Given the description of an element on the screen output the (x, y) to click on. 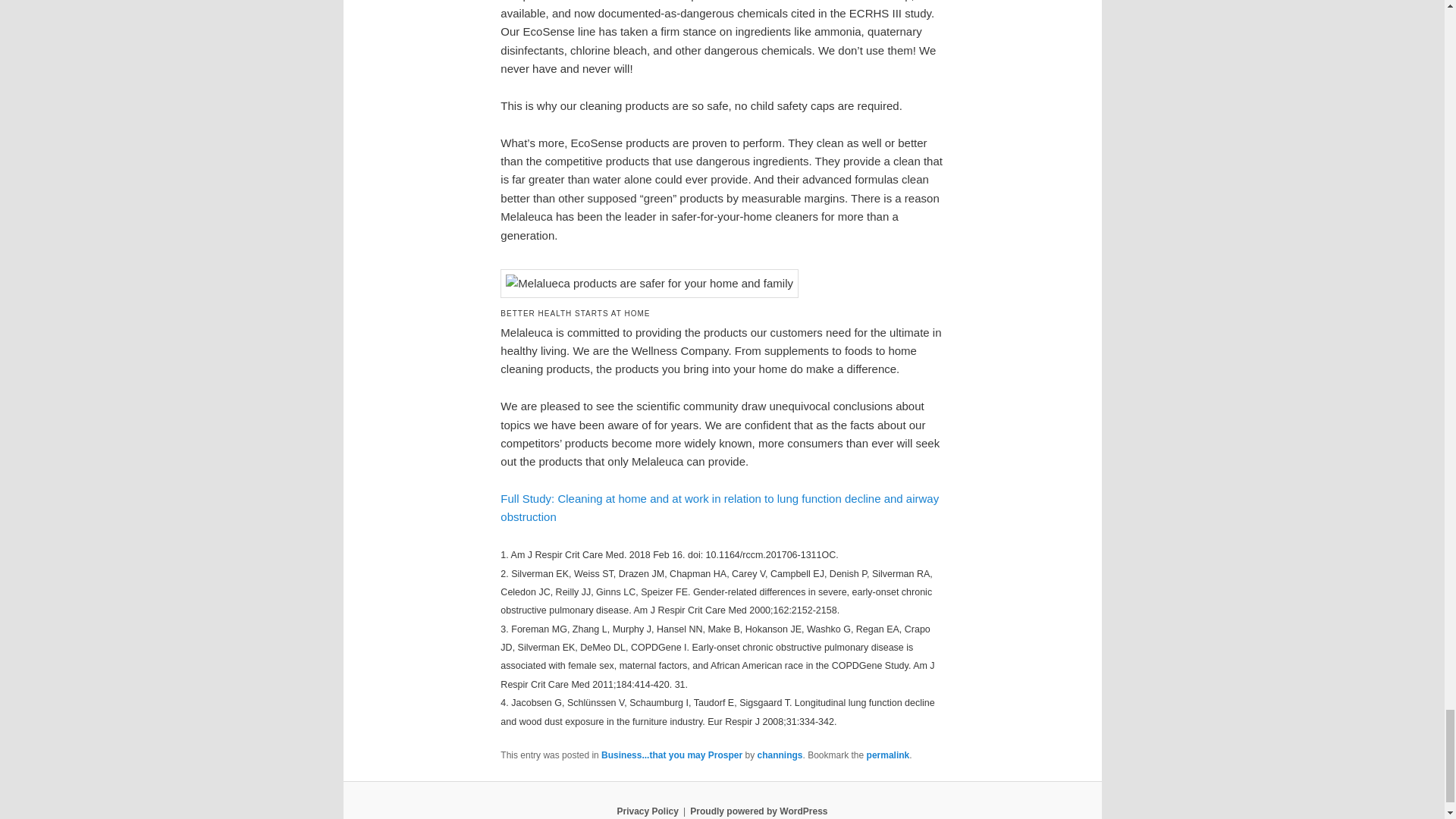
Business...that you may Prosper (671, 755)
Privacy Policy (646, 810)
Proudly powered by WordPress (758, 810)
Semantic Personal Publishing Platform (758, 810)
channings (779, 755)
permalink (888, 755)
